Given the description of an element on the screen output the (x, y) to click on. 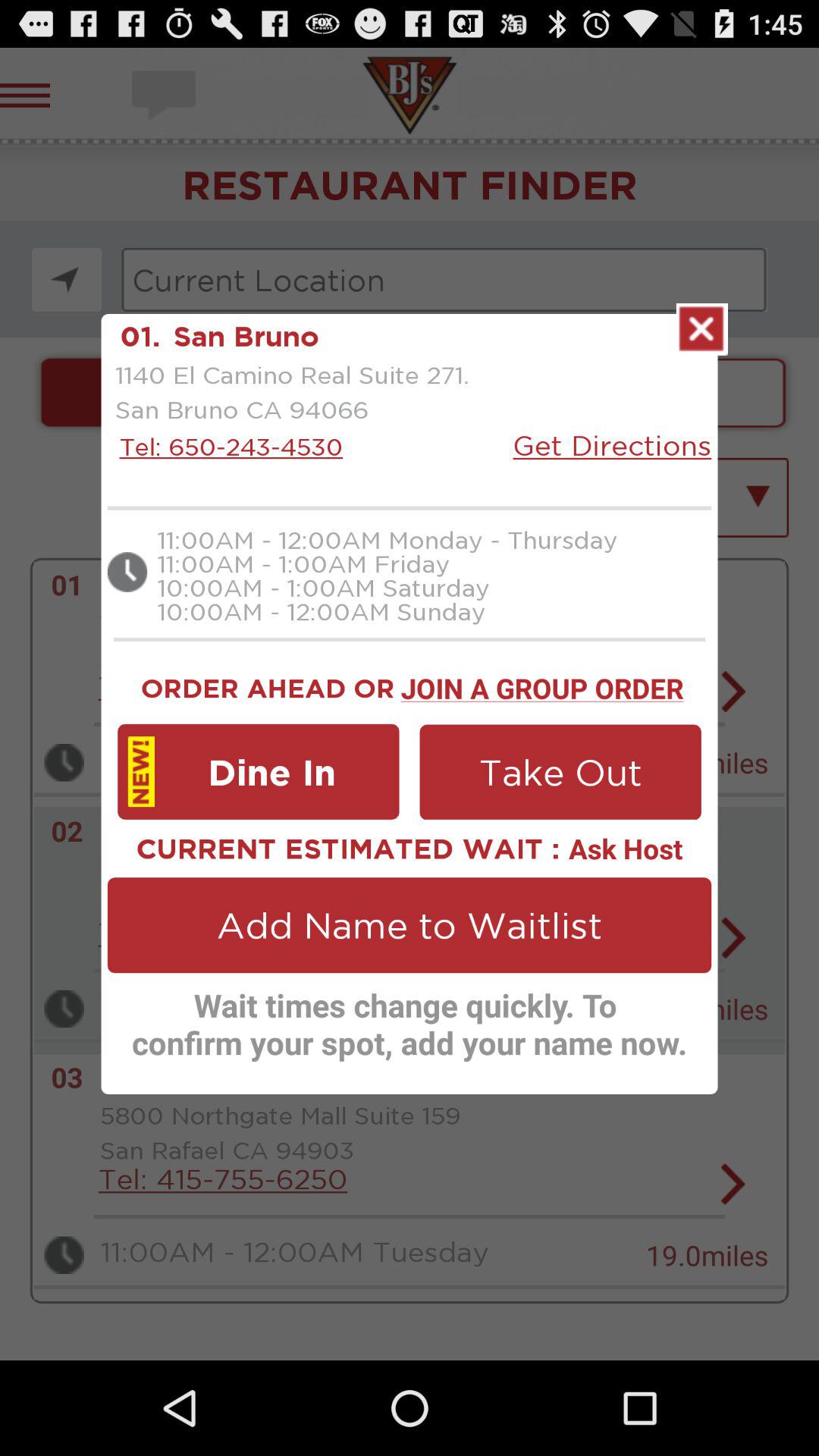
turn on the app next to order ahead or (541, 685)
